Given the description of an element on the screen output the (x, y) to click on. 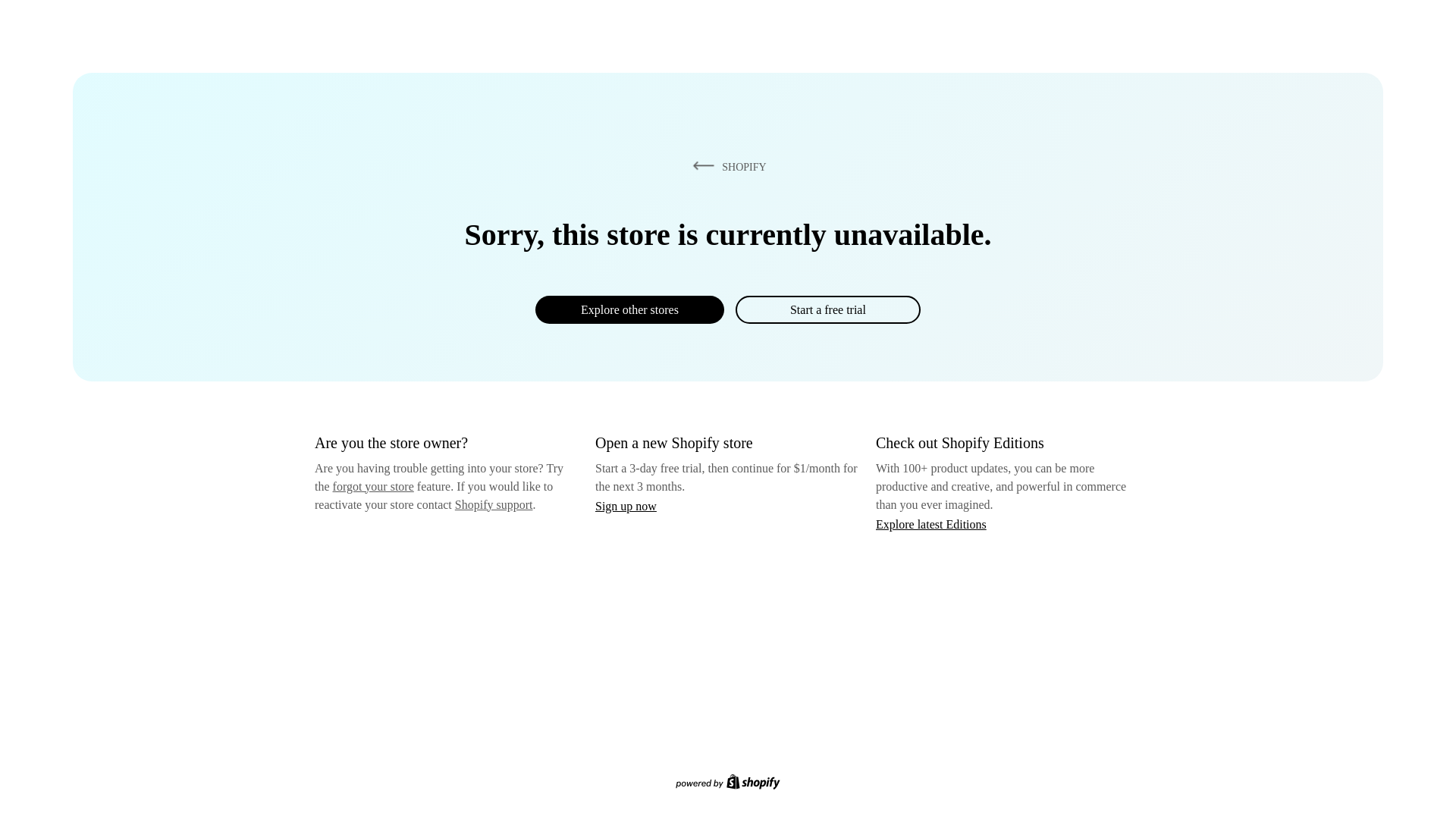
SHOPIFY (726, 166)
Shopify support (493, 504)
Sign up now (625, 505)
Start a free trial (827, 309)
Explore latest Editions (931, 523)
forgot your store (373, 486)
Explore other stores (629, 309)
